Given the description of an element on the screen output the (x, y) to click on. 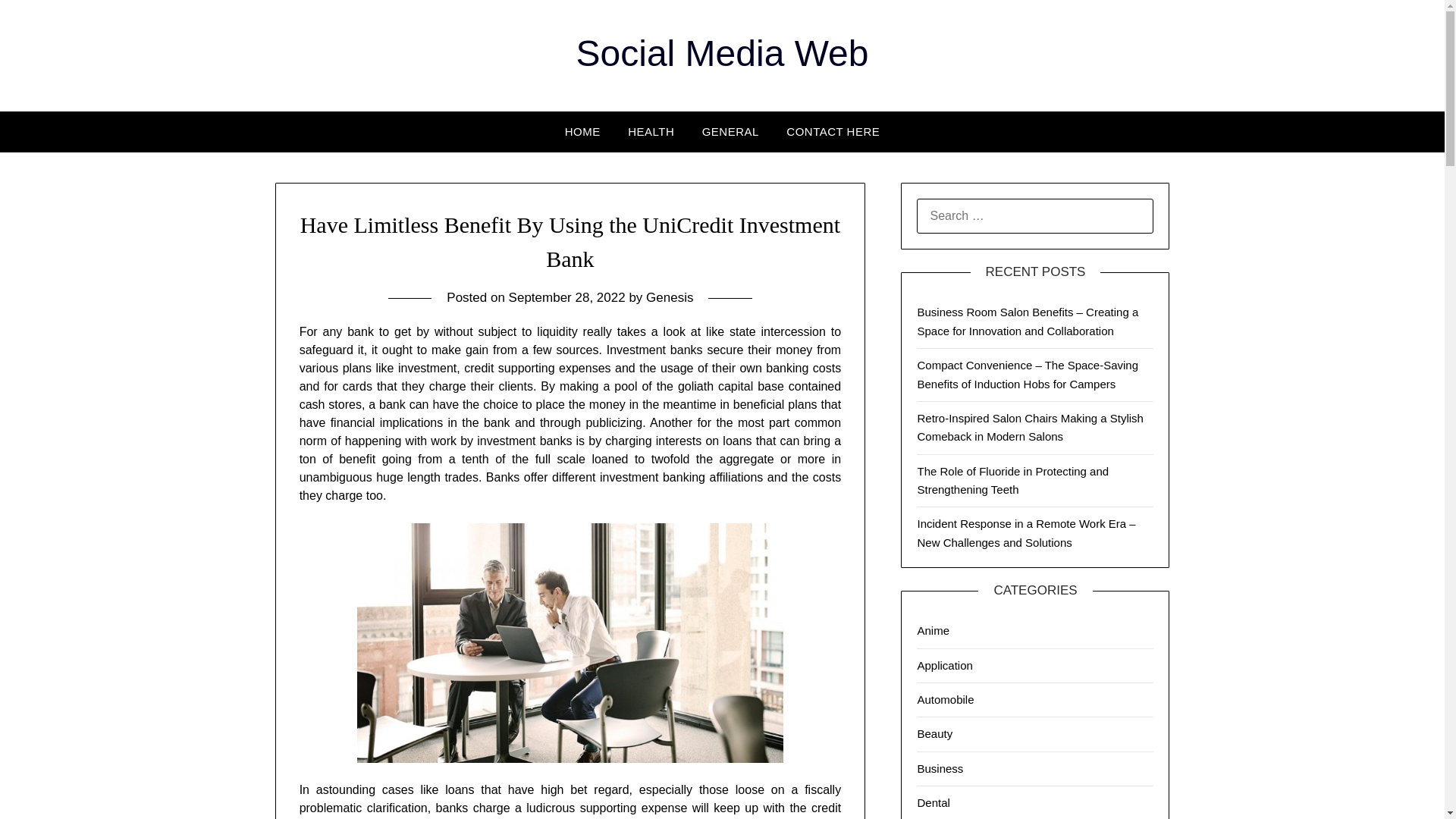
Beauty (934, 733)
Social Media Web (722, 53)
Dental (933, 802)
CONTACT HERE (832, 131)
Application (944, 664)
September 28, 2022 (567, 297)
The Role of Fluoride in Protecting and Strengthening Teeth (1012, 480)
Automobile (945, 698)
HEALTH (650, 131)
Business (939, 768)
